Given the description of an element on the screen output the (x, y) to click on. 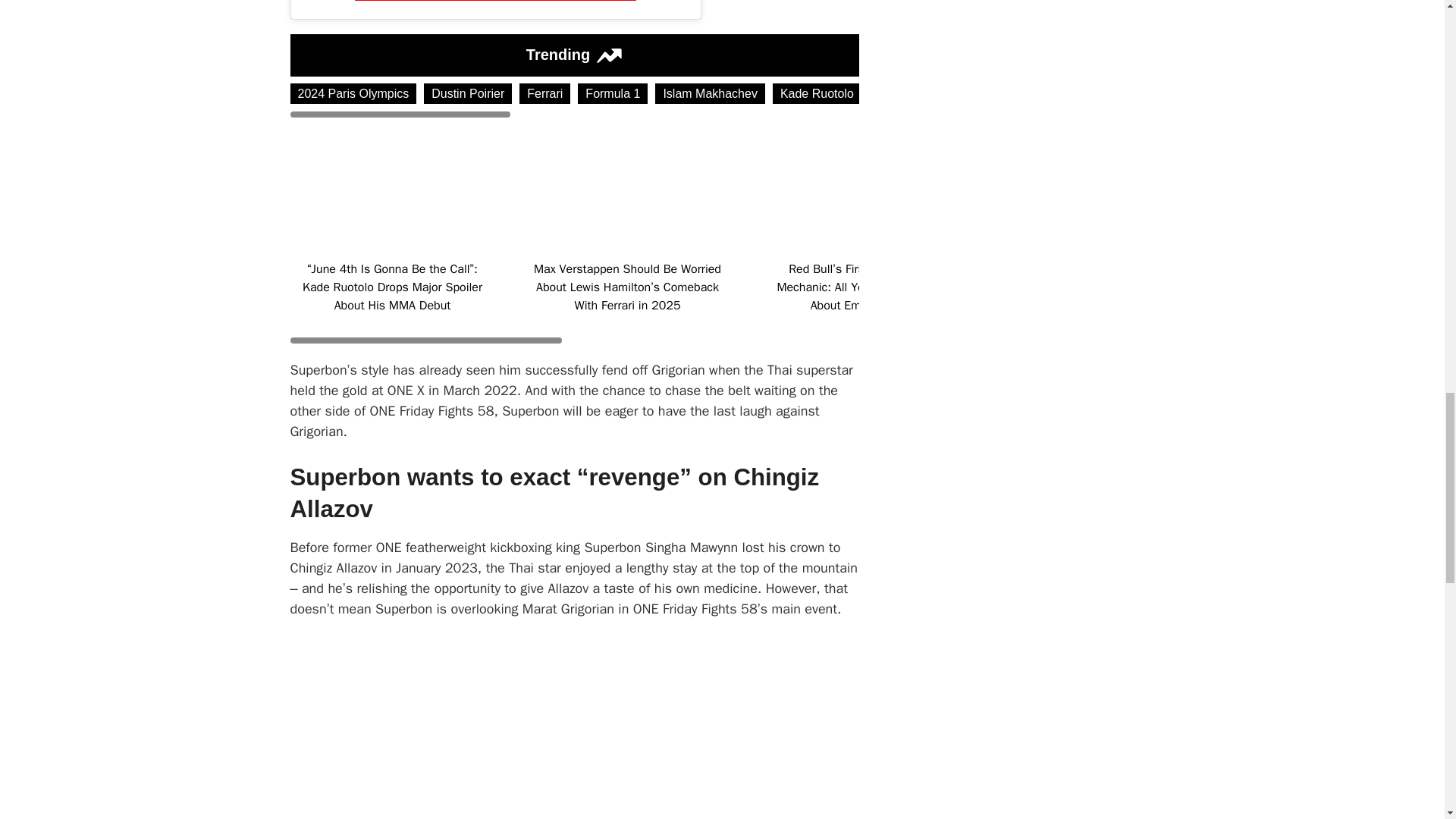
Formula 1 (612, 93)
Kade Ruotolo (817, 93)
Dustin Poirier (467, 93)
Ferrari (544, 93)
Mercedes (1369, 93)
Islam Makhachev (710, 93)
LeBron James (1065, 93)
2024 Paris Olympics (352, 93)
